Given the description of an element on the screen output the (x, y) to click on. 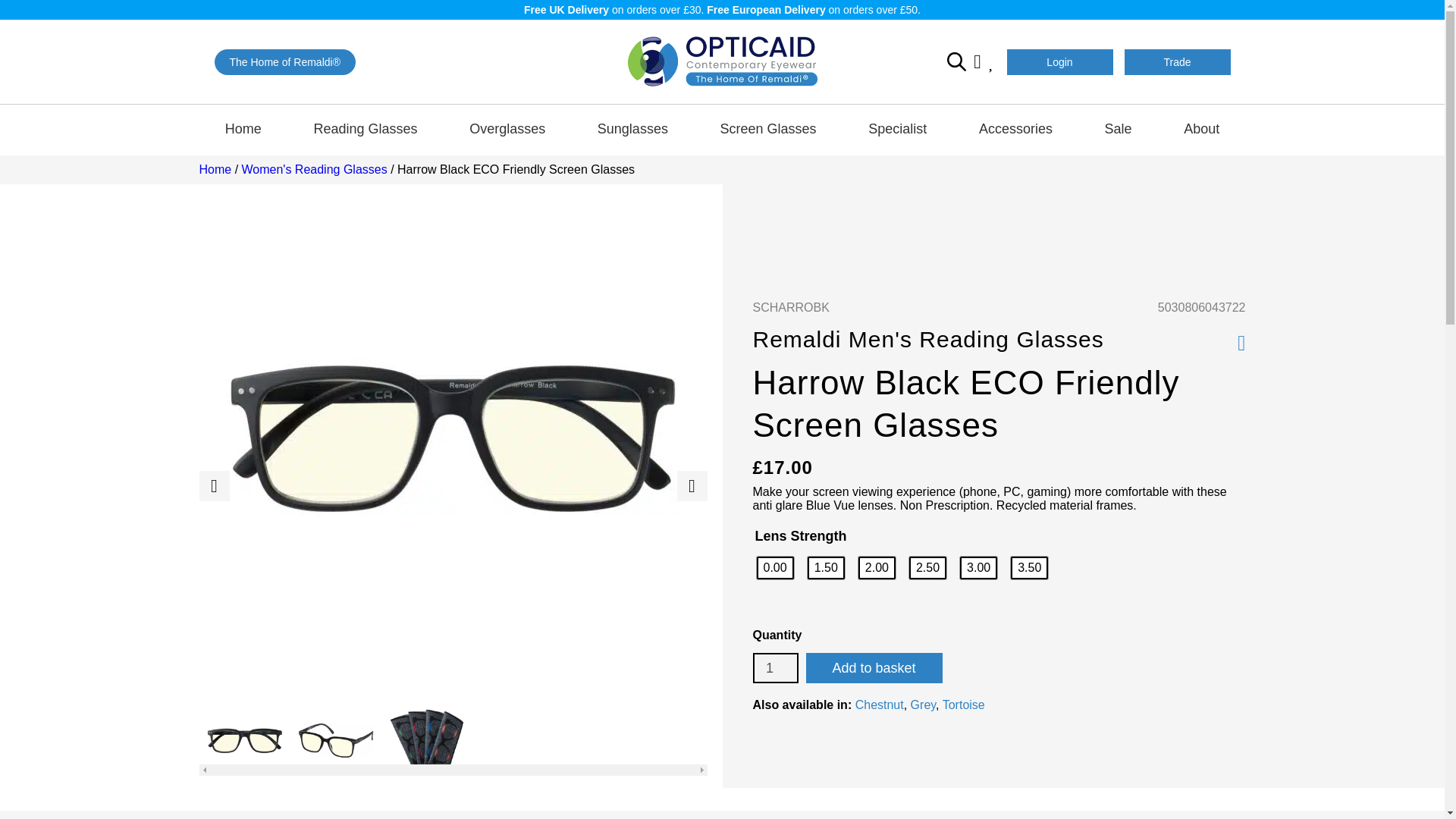
Trade (1177, 61)
Home (242, 128)
3.50 (1029, 567)
1 (774, 667)
2.00 (877, 567)
0.00 (775, 567)
Login (1060, 61)
Reading Glasses (365, 128)
3.00 (978, 567)
1.50 (826, 567)
Overglasses (508, 128)
2.50 (927, 567)
